Given the description of an element on the screen output the (x, y) to click on. 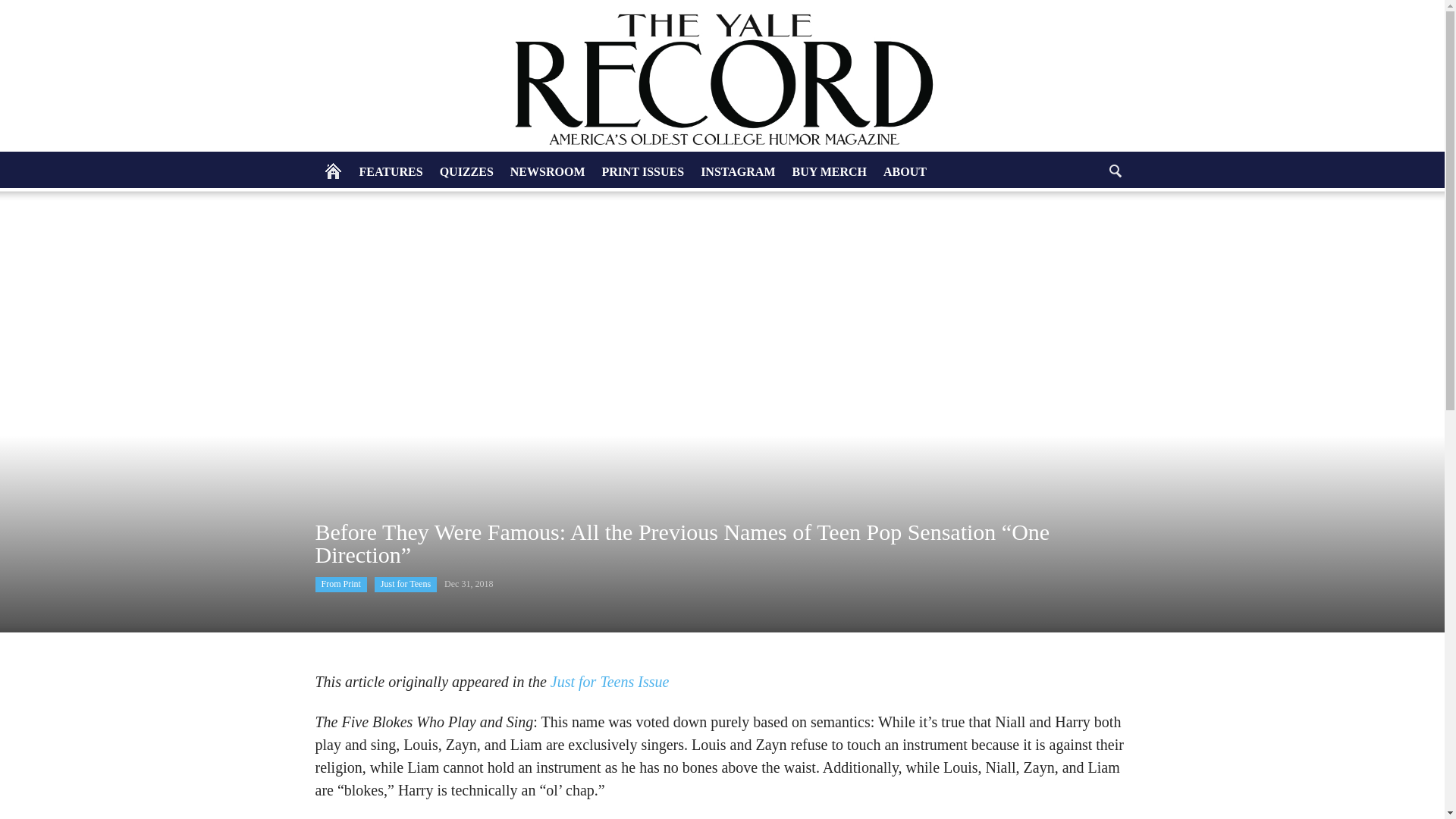
FEATURES (390, 170)
INSTAGRAM (738, 170)
NEWSROOM (548, 170)
Just for Teens Issue (609, 681)
PRINT ISSUES (642, 170)
From Print (340, 584)
ABOUT (904, 170)
Just for Teens (405, 584)
QUIZZES (466, 170)
BUY MERCH (830, 170)
